Given the description of an element on the screen output the (x, y) to click on. 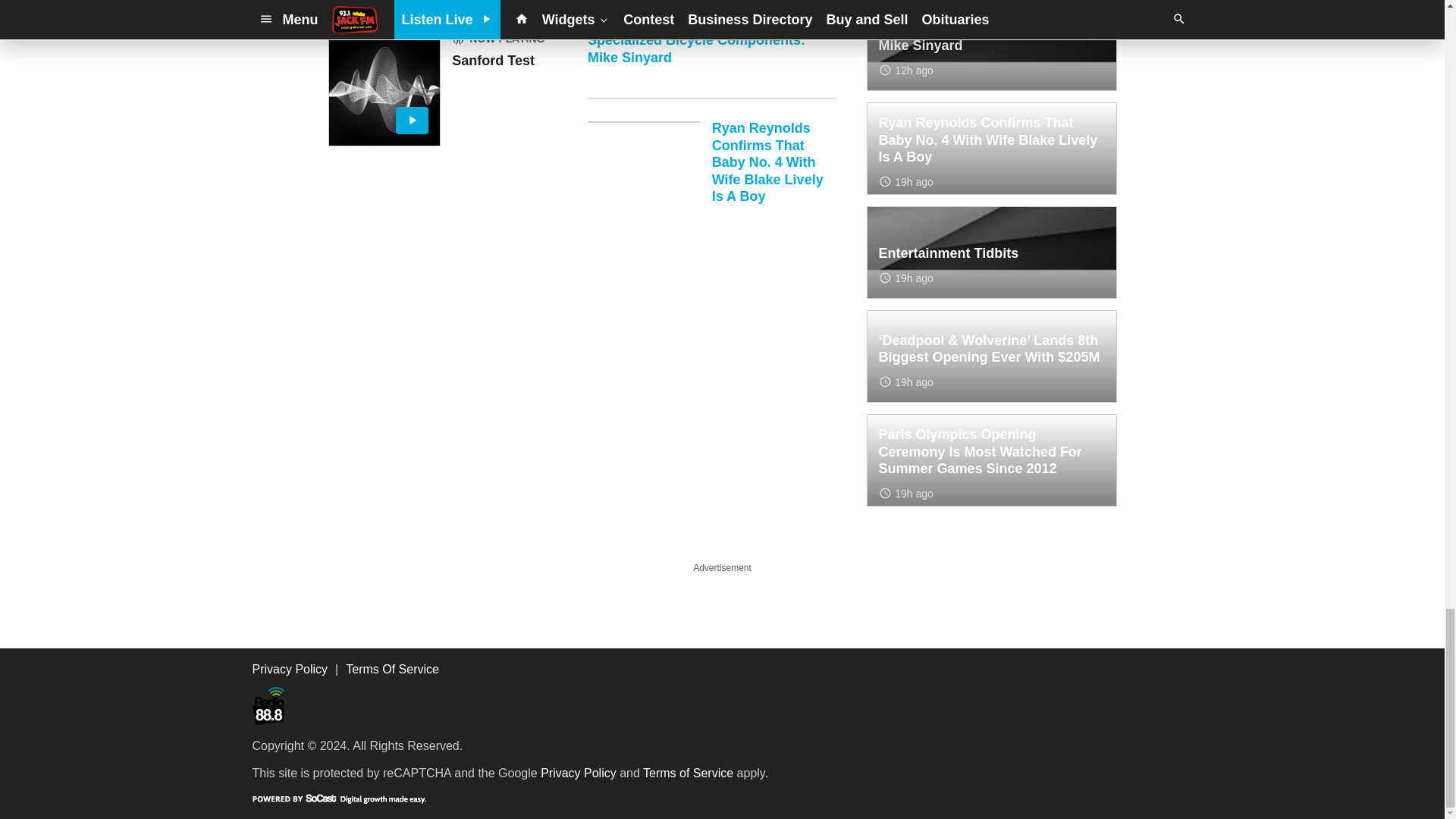
Specialized Bicycle Components: Mike Sinyard (711, 65)
Listen Live (384, 89)
